Given the description of an element on the screen output the (x, y) to click on. 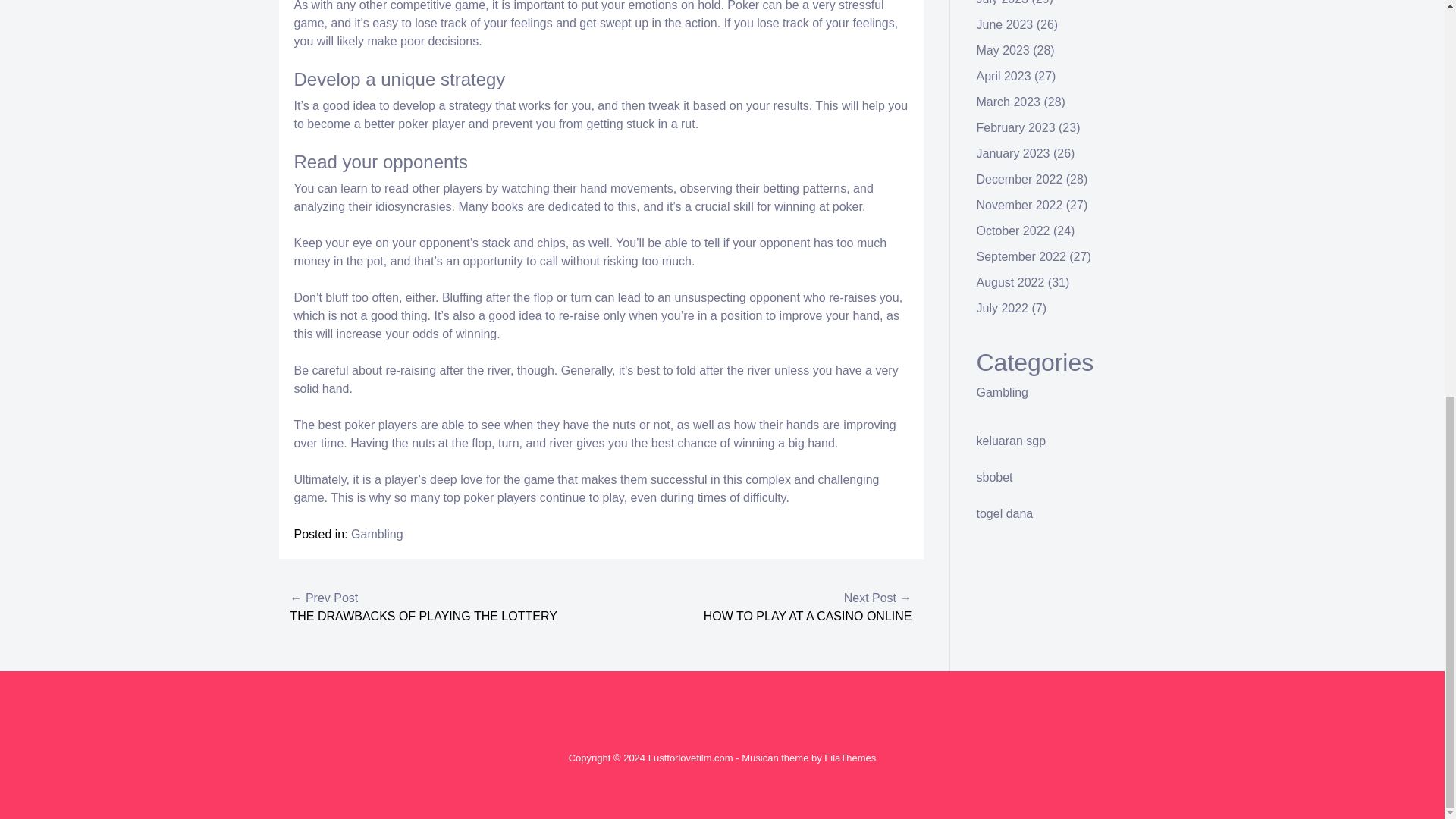
August 2022 (1010, 282)
July 2022 (1002, 308)
Lustforlovefilm.com (690, 757)
October 2022 (1012, 230)
Gambling (1001, 391)
May 2023 (1002, 50)
June 2023 (1004, 24)
July 2023 (1002, 2)
Gambling (376, 533)
March 2023 (1008, 101)
February 2023 (1015, 127)
December 2022 (1019, 178)
November 2022 (1019, 205)
April 2023 (1003, 75)
September 2022 (1020, 256)
